Given the description of an element on the screen output the (x, y) to click on. 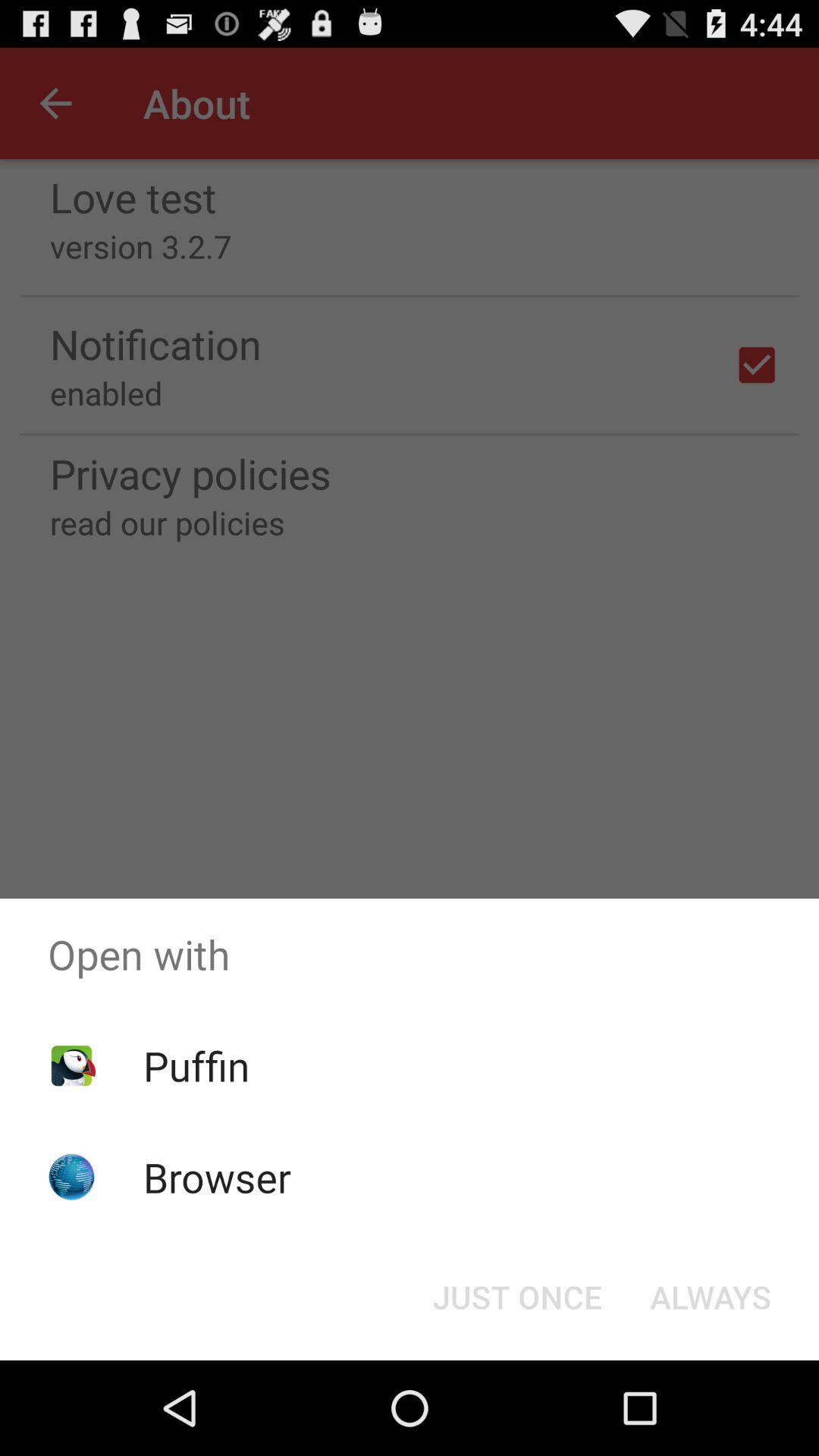
turn on the item at the bottom right corner (710, 1296)
